Given the description of an element on the screen output the (x, y) to click on. 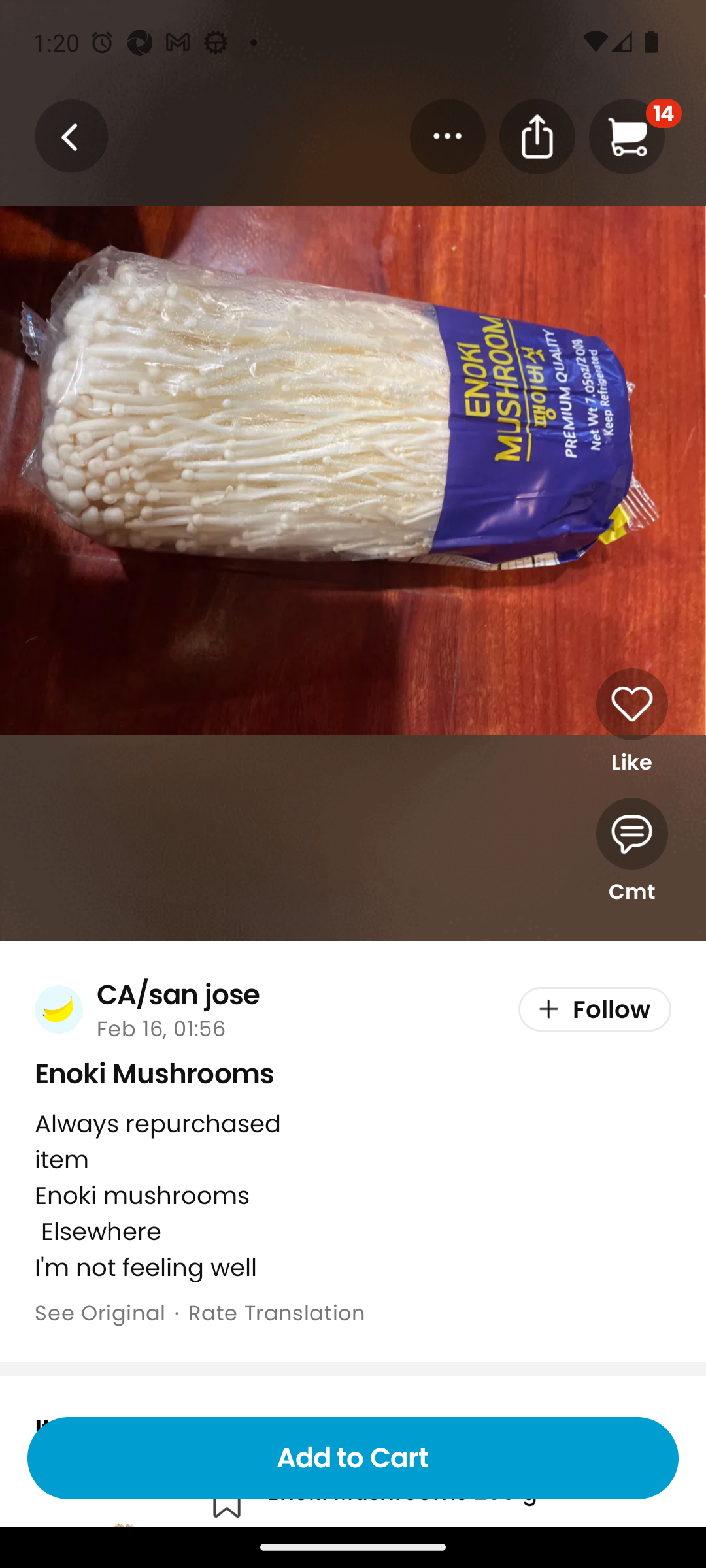
14 (634, 136)
Like (631, 721)
Cmt (631, 852)
CA/san jose (178, 994)
Follow (594, 1009)
See Original (99, 1313)
Rate Translation (276, 1313)
Add to Cart (352, 1458)
